Given the description of an element on the screen output the (x, y) to click on. 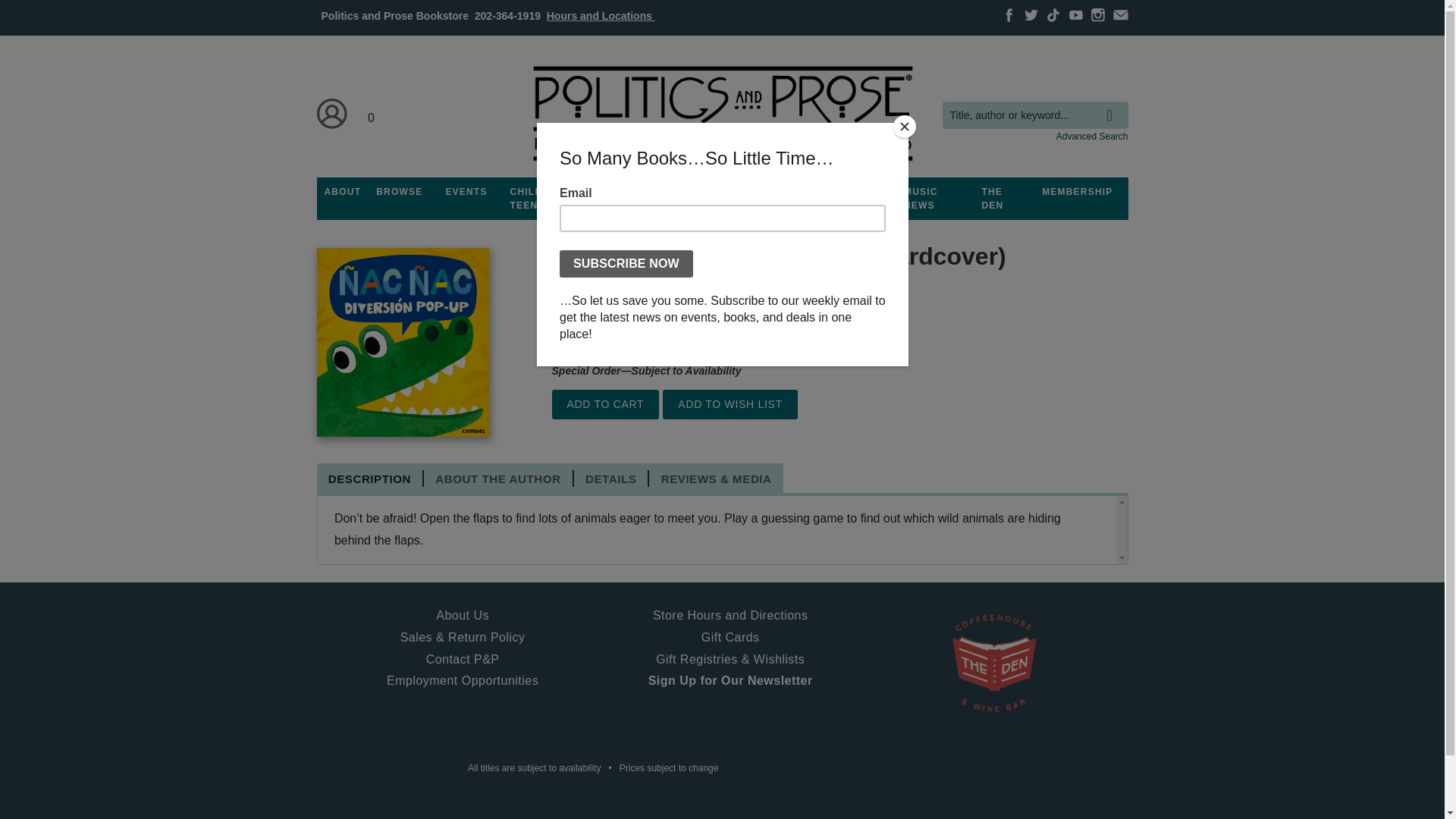
See information about our programs (633, 191)
ABOUT (343, 191)
PROGRAMS (633, 191)
SERVICES (808, 191)
See our store ours and locations (601, 15)
See our event calendar (465, 191)
EVENTS (465, 191)
Children and Teens Department (548, 198)
BROWSE (398, 191)
